Given the description of an element on the screen output the (x, y) to click on. 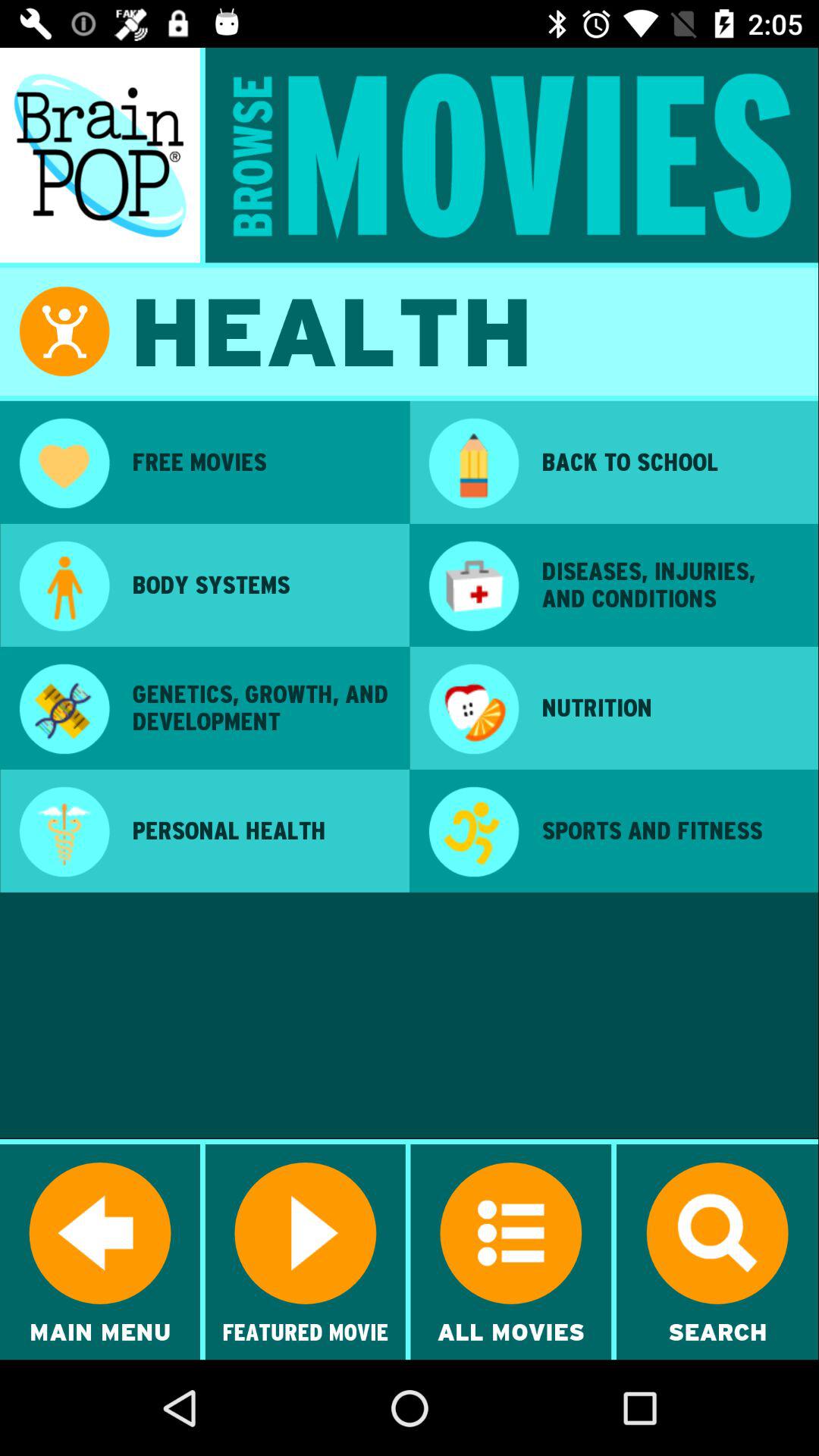
turn on the icon next to free movies item (473, 464)
